Given the description of an element on the screen output the (x, y) to click on. 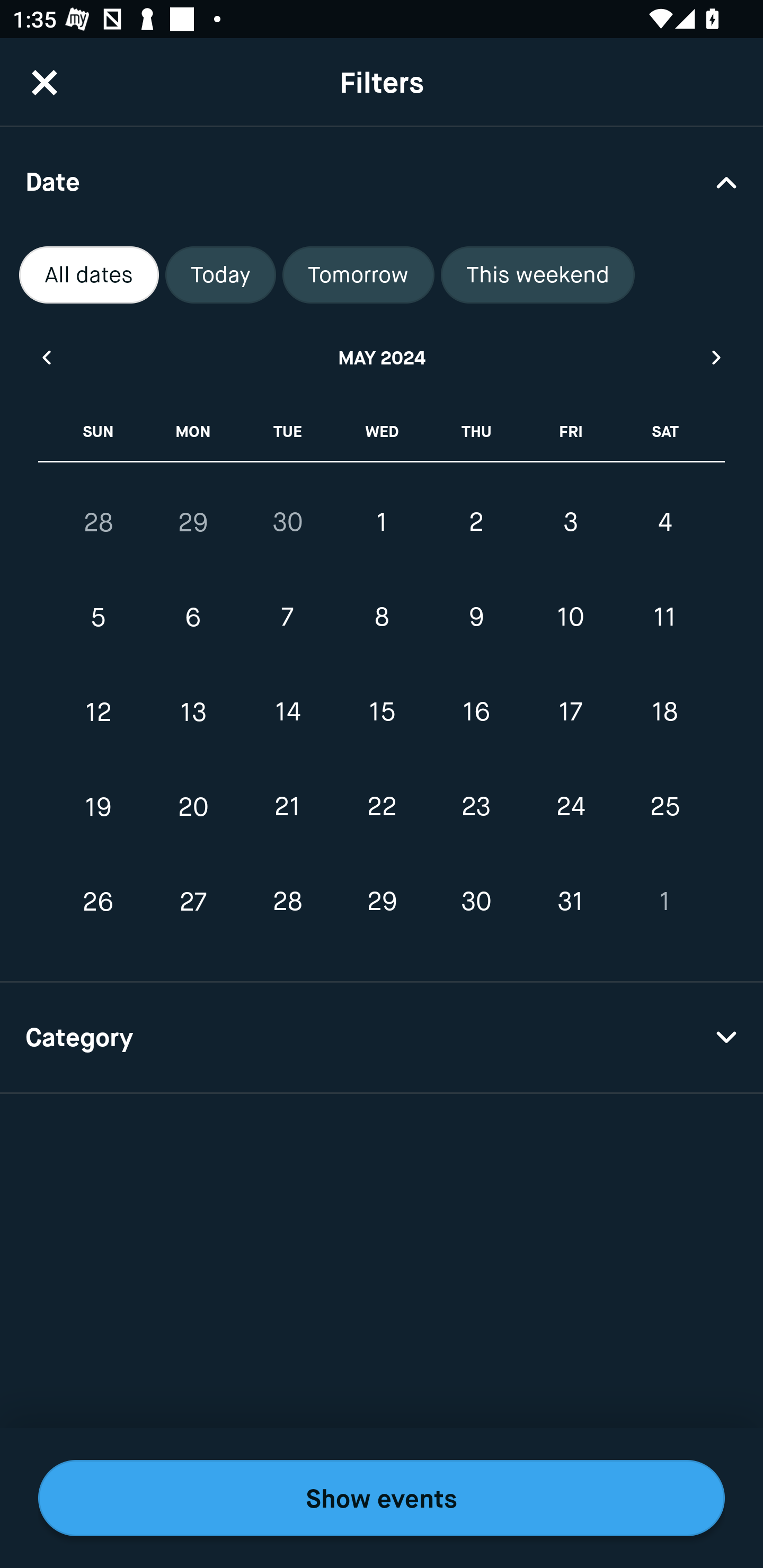
CloseButton (44, 82)
Date Drop Down Arrow (381, 181)
All dates (88, 274)
Today (220, 274)
Tomorrow (358, 274)
This weekend (537, 274)
Previous (45, 357)
Next (717, 357)
28 (98, 522)
29 (192, 522)
30 (287, 522)
1 (381, 522)
2 (475, 522)
3 (570, 522)
4 (664, 522)
5 (98, 617)
6 (192, 617)
7 (287, 617)
8 (381, 617)
9 (475, 617)
10 (570, 617)
11 (664, 617)
12 (98, 711)
13 (192, 711)
14 (287, 711)
15 (381, 711)
16 (475, 711)
17 (570, 711)
18 (664, 711)
19 (98, 806)
20 (192, 806)
21 (287, 806)
22 (381, 806)
23 (475, 806)
24 (570, 806)
25 (664, 806)
26 (98, 901)
27 (192, 901)
28 (287, 901)
29 (381, 901)
30 (475, 901)
31 (570, 901)
1 (664, 901)
Category Drop Down Arrow (381, 1038)
Show events (381, 1497)
